Given the description of an element on the screen output the (x, y) to click on. 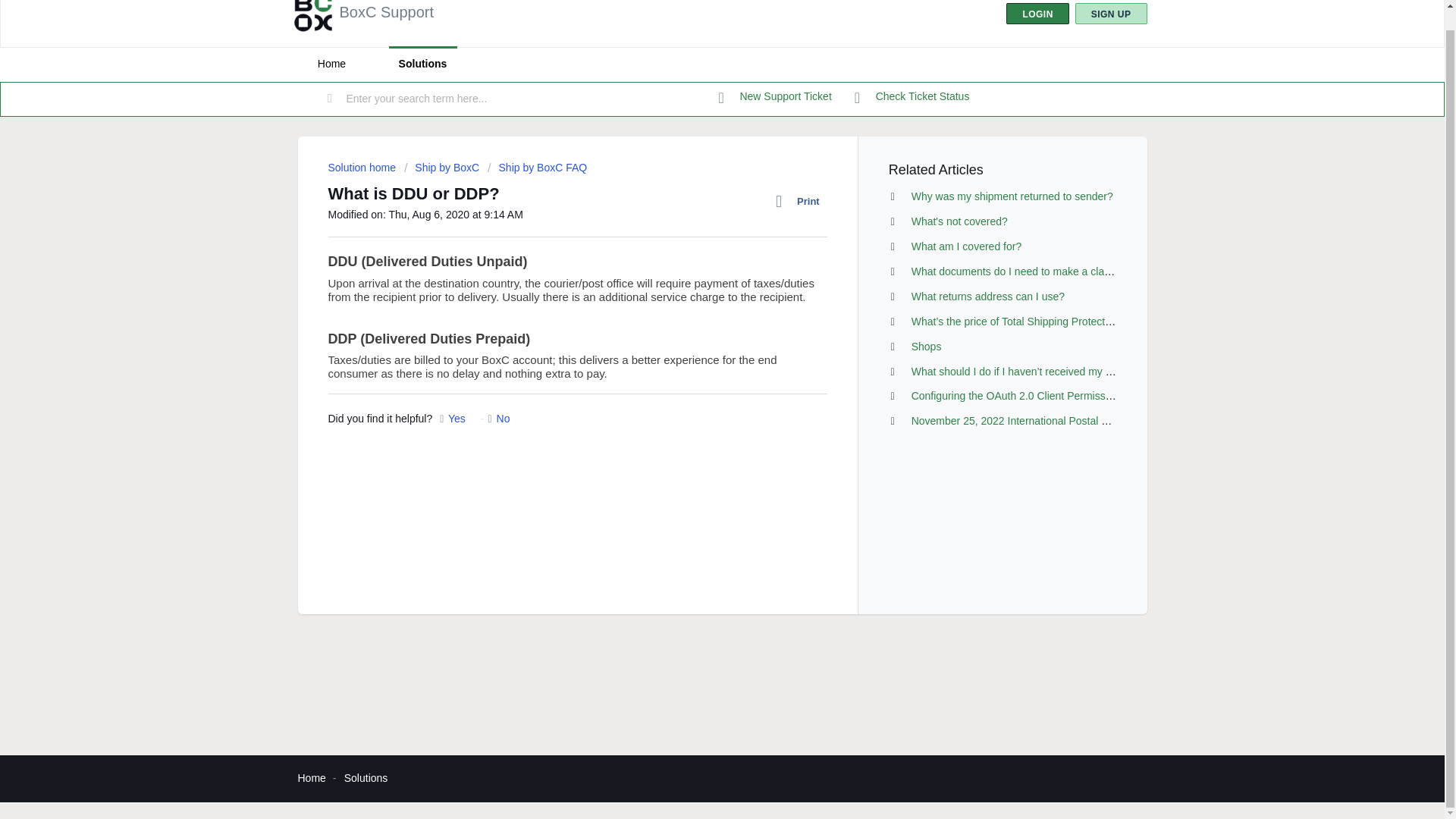
New support ticket (775, 96)
LOGIN (1037, 13)
Ship by BoxC FAQ (536, 167)
Home (331, 63)
New Support Ticket (775, 96)
Check Ticket Status (911, 96)
Home (310, 777)
Why was my shipment returned to sender? (1012, 196)
Configuring the OAuth 2.0 Client Permissions (1018, 395)
Check ticket status (911, 96)
Solutions (422, 63)
SIGN UP (1111, 13)
Shops (926, 346)
Print (801, 201)
What's not covered? (959, 221)
